Given the description of an element on the screen output the (x, y) to click on. 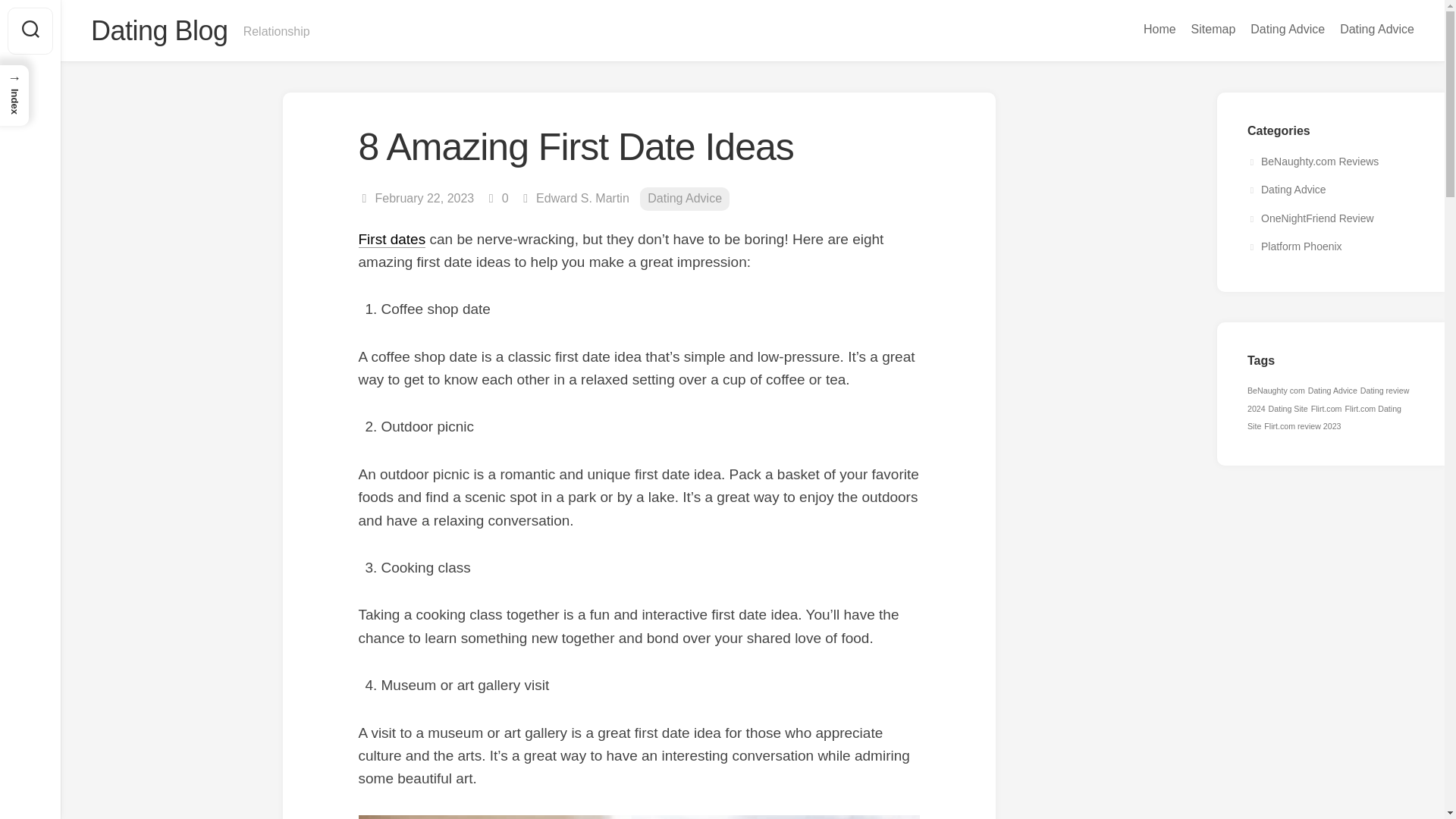
Edward S. Martin (581, 197)
Sitemap (1213, 29)
Dating Advice (1287, 29)
First dates (391, 238)
BeNaughty.com Reviews (1312, 160)
Dating Advice (1376, 29)
Dating Advice (684, 198)
Dating Blog (159, 31)
Dating Advice (1286, 189)
Posts by Edward S. Martin (581, 197)
